Given the description of an element on the screen output the (x, y) to click on. 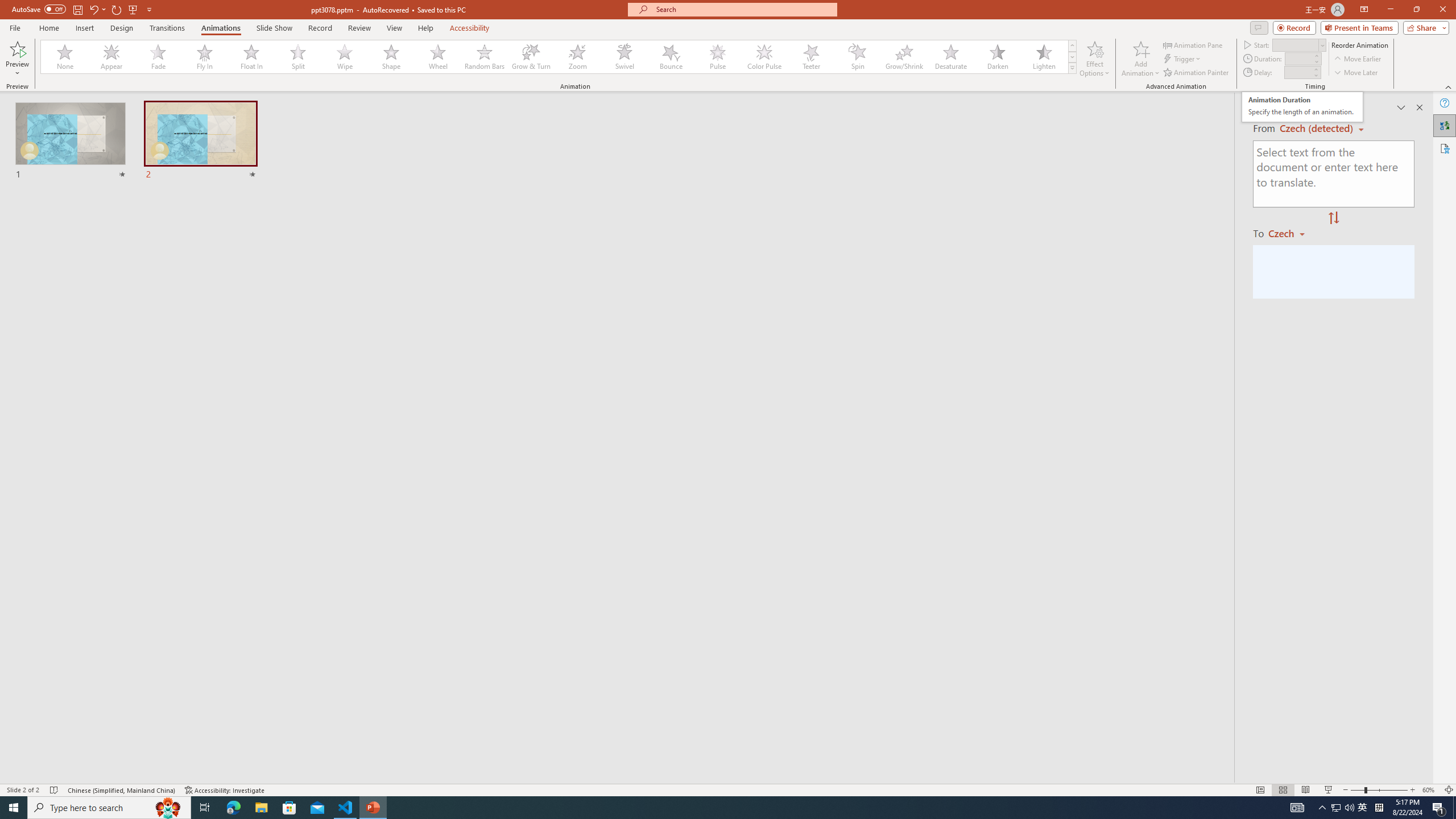
Animation Delay (1297, 72)
Float In (251, 56)
Spin (857, 56)
Bounce (670, 56)
Color Pulse (764, 56)
